Given the description of an element on the screen output the (x, y) to click on. 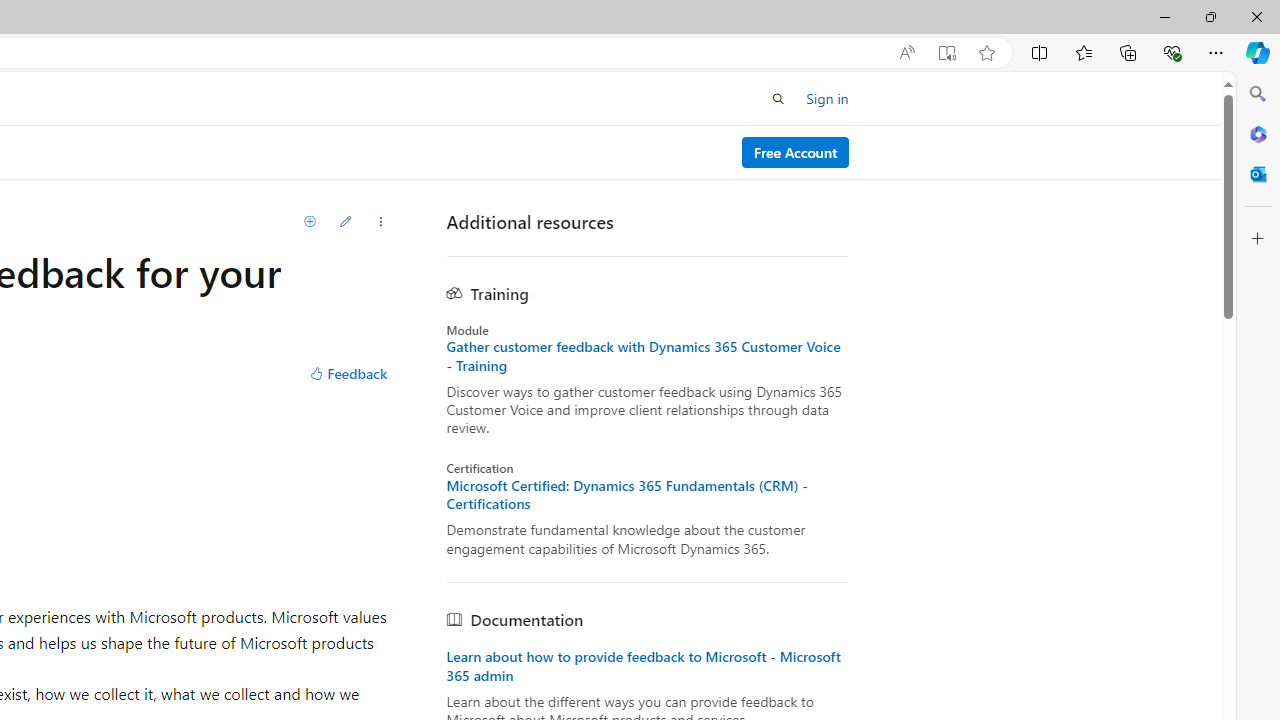
Split screen (1039, 52)
Free Account (795, 152)
Read aloud this page (Ctrl+Shift+U) (906, 53)
Open search (777, 97)
Collections (1128, 52)
Settings and more (Alt+F) (1215, 52)
More actions (381, 221)
Microsoft 365 (1258, 133)
Browser essentials (1171, 52)
Sign in (827, 98)
